Given the description of an element on the screen output the (x, y) to click on. 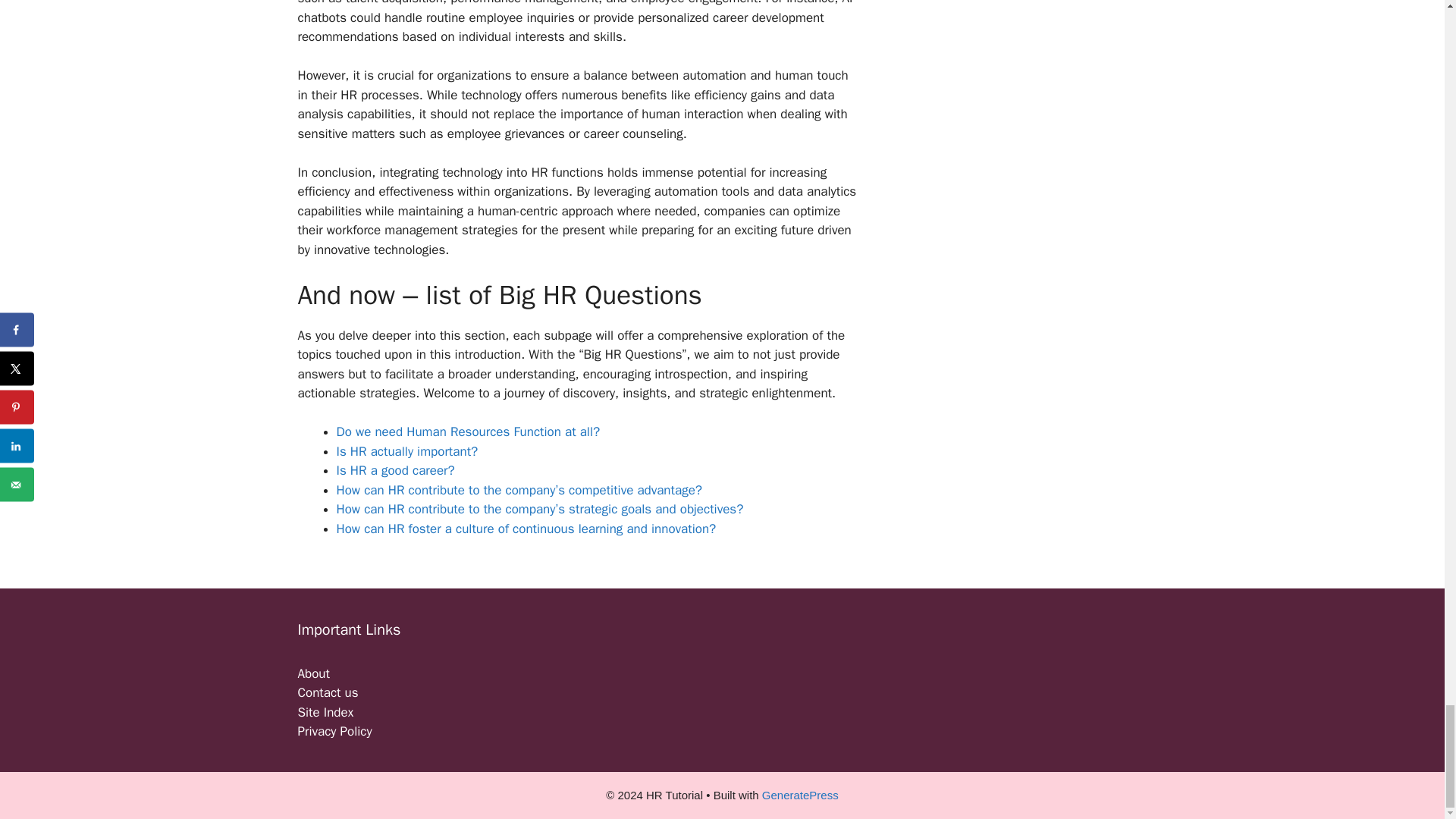
Is HR actually important? (407, 451)
Is HR a good career? (395, 470)
Do we need Human Resources Function at all? (467, 431)
